Given the description of an element on the screen output the (x, y) to click on. 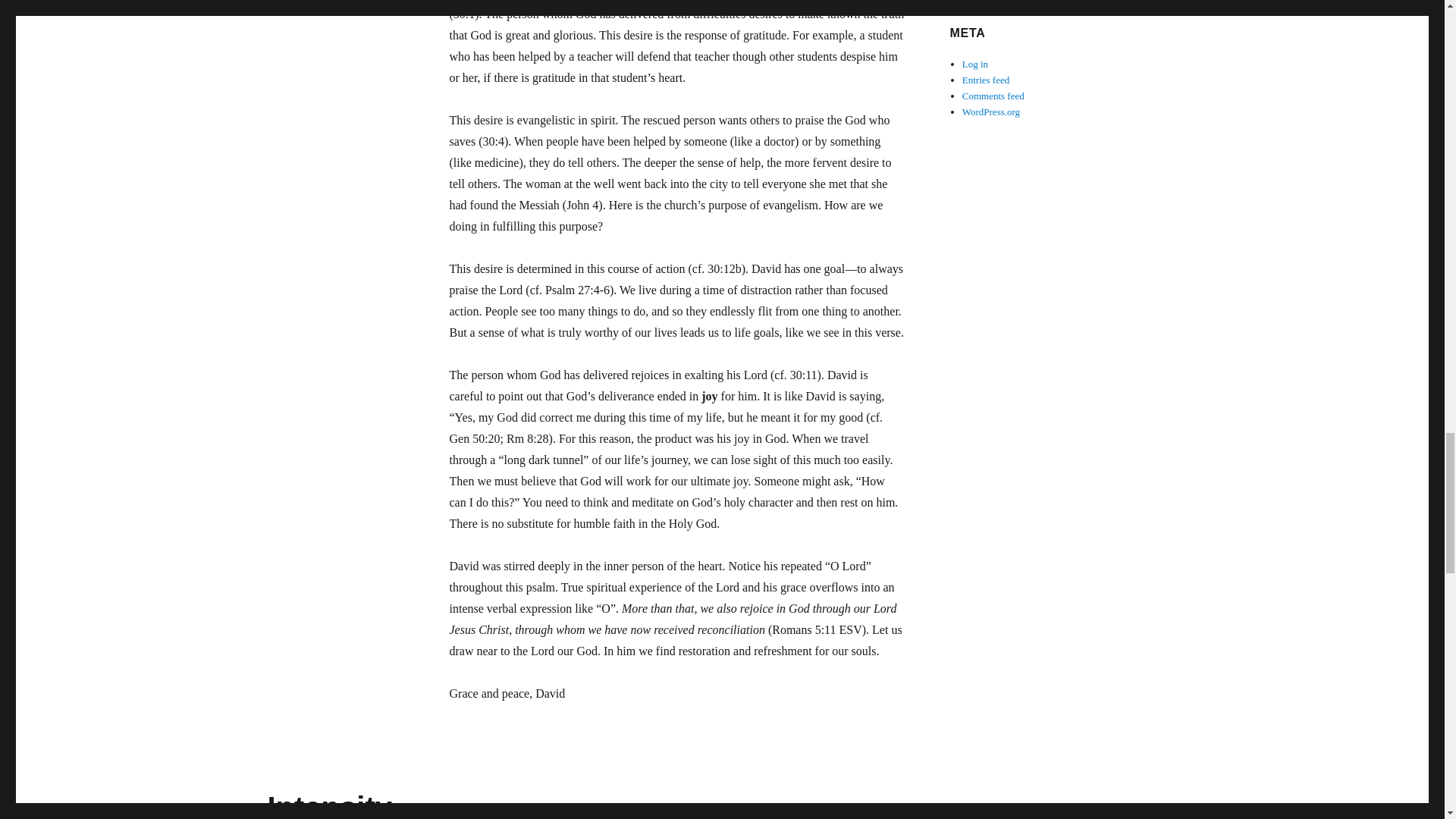
Intensity (328, 805)
